Given the description of an element on the screen output the (x, y) to click on. 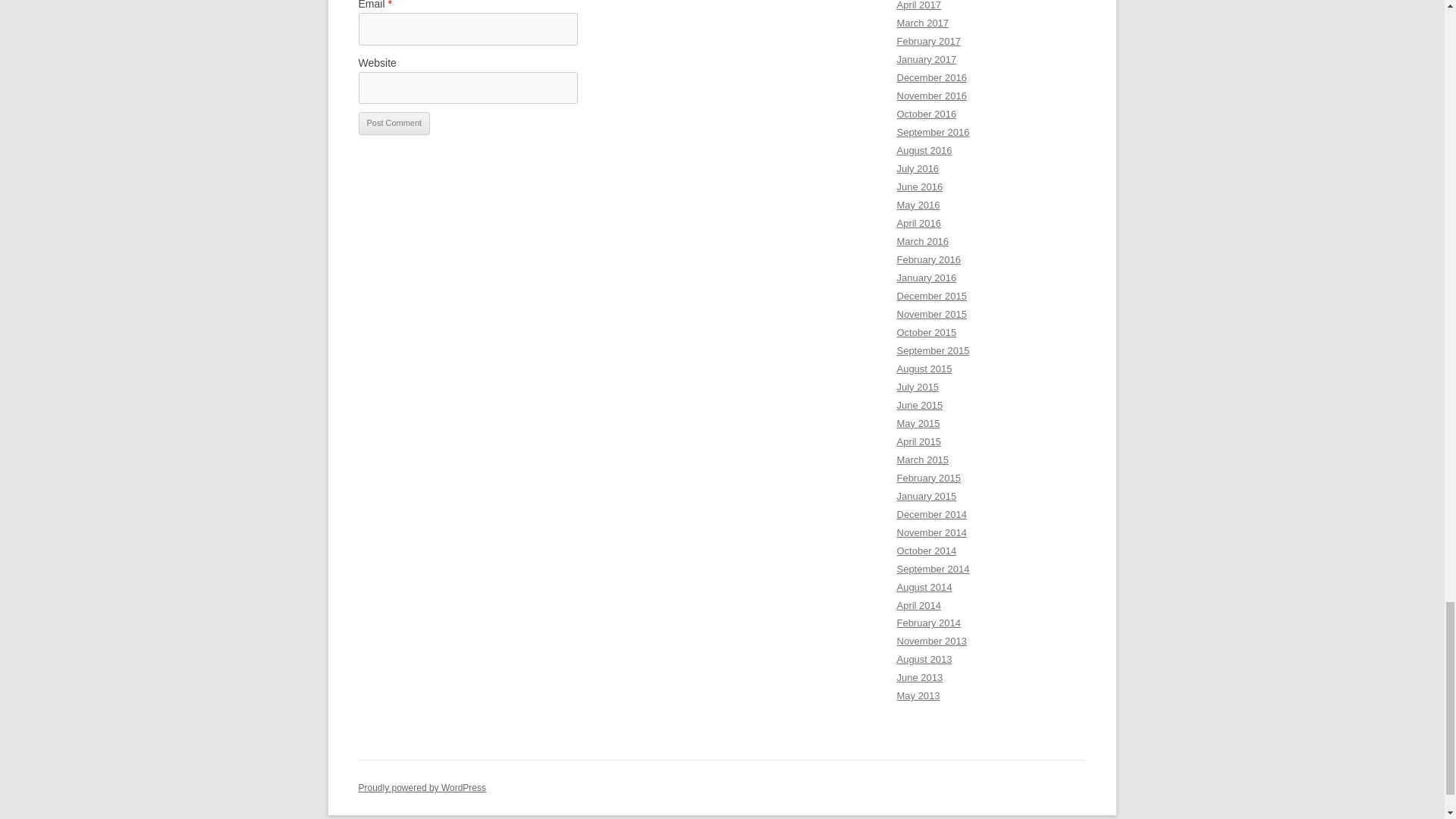
Semantic Personal Publishing Platform (422, 787)
Post Comment (393, 123)
Post Comment (393, 123)
